Given the description of an element on the screen output the (x, y) to click on. 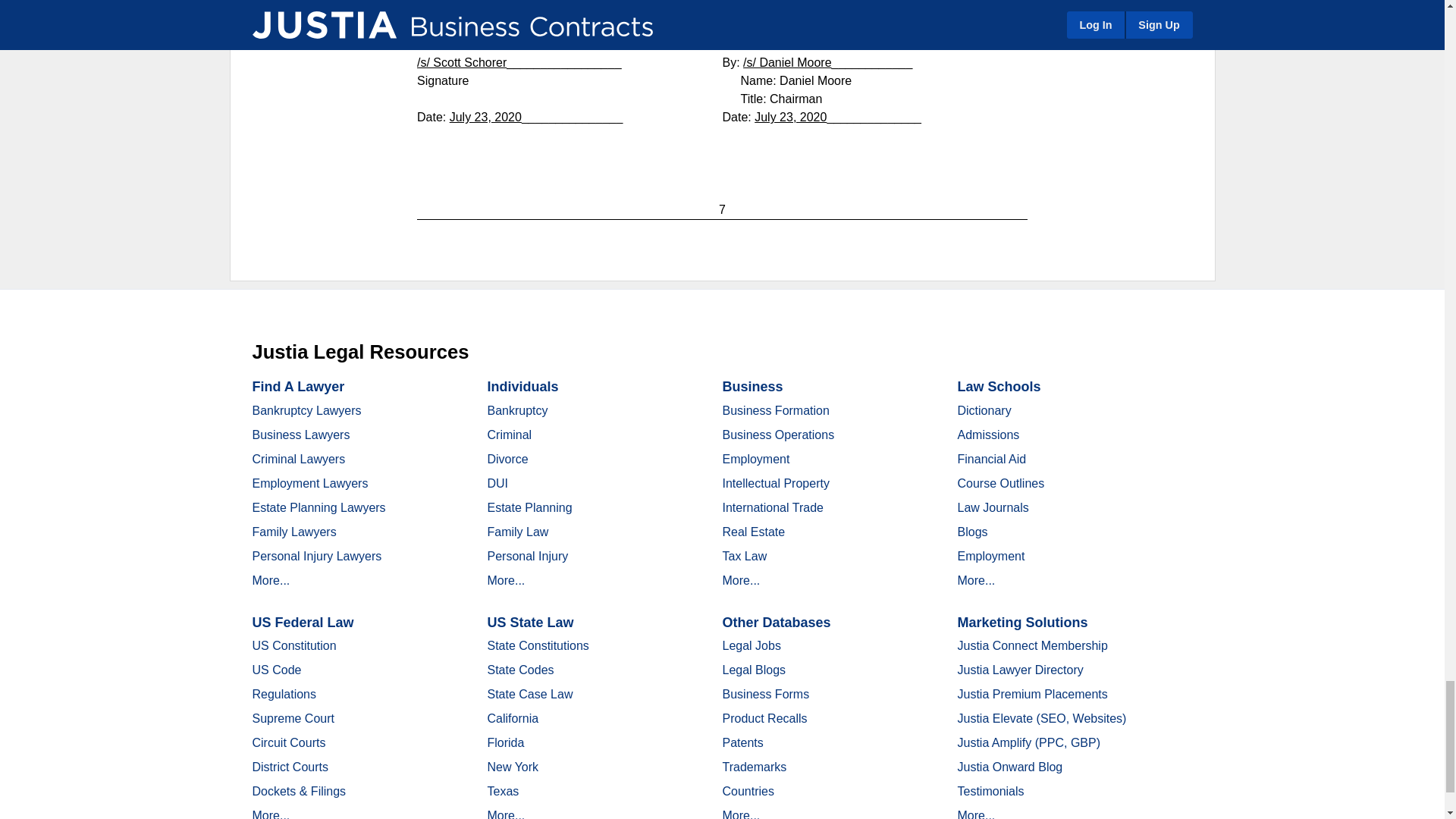
Bankruptcy Lawyers (306, 410)
Find A Lawyer (297, 386)
More... (270, 580)
Criminal Lawyers (298, 459)
Business Lawyers (300, 434)
Employment Lawyers (309, 482)
Family Lawyers (293, 531)
Estate Planning Lawyers (318, 507)
Personal Injury Lawyers (316, 555)
